Given the description of an element on the screen output the (x, y) to click on. 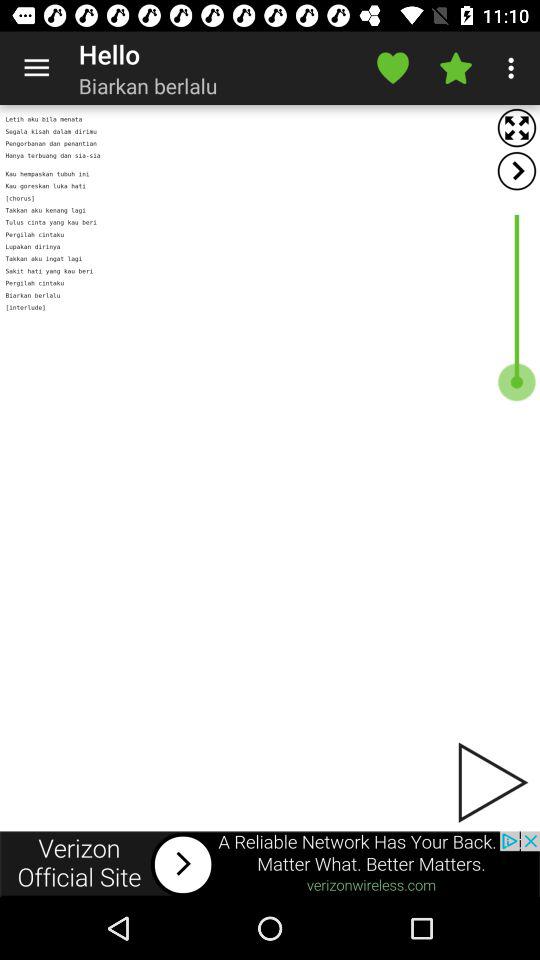
text page (270, 468)
